Given the description of an element on the screen output the (x, y) to click on. 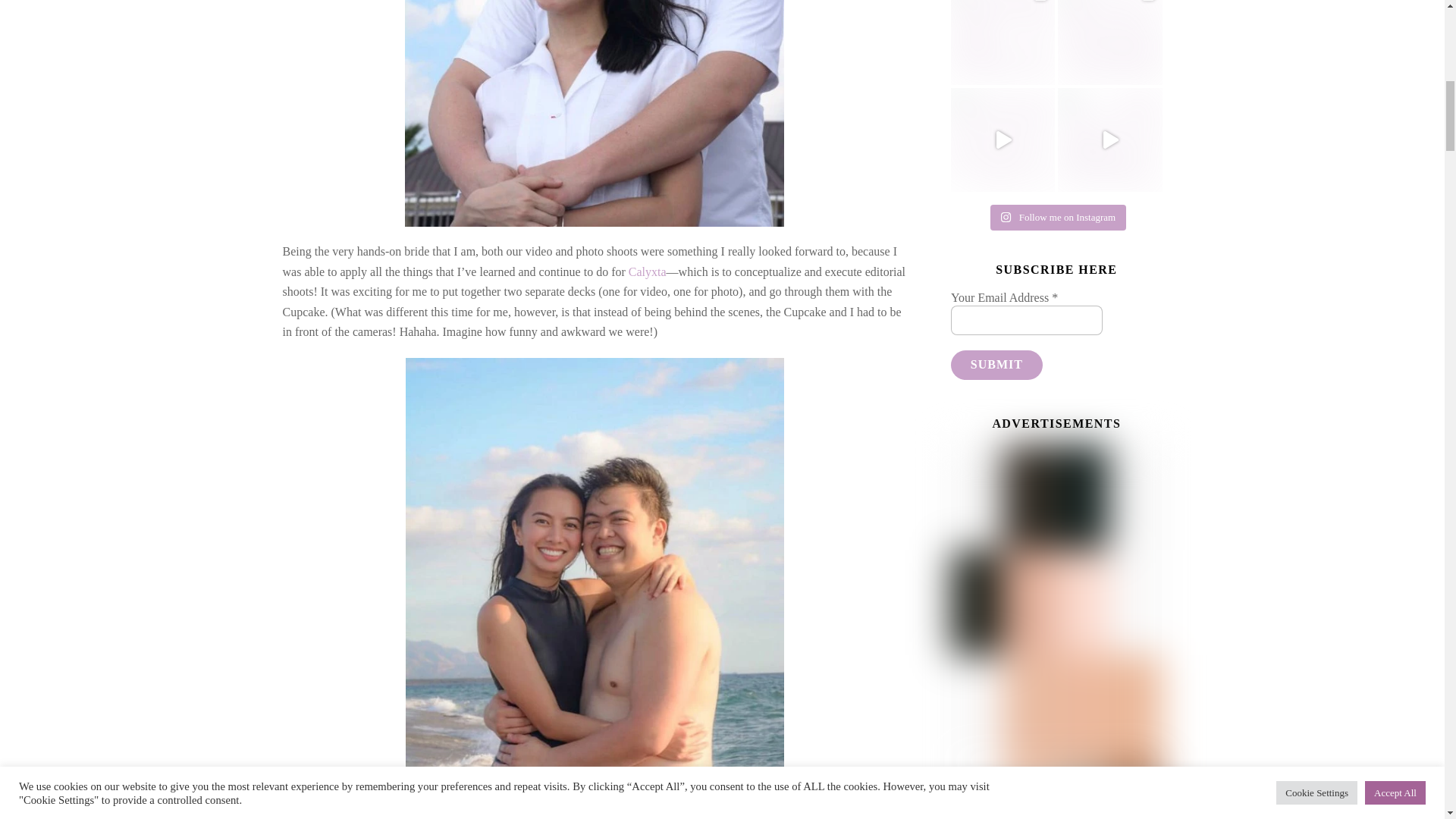
Calyxta (647, 271)
Your Email Address (1026, 319)
Submit (996, 365)
